Given the description of an element on the screen output the (x, y) to click on. 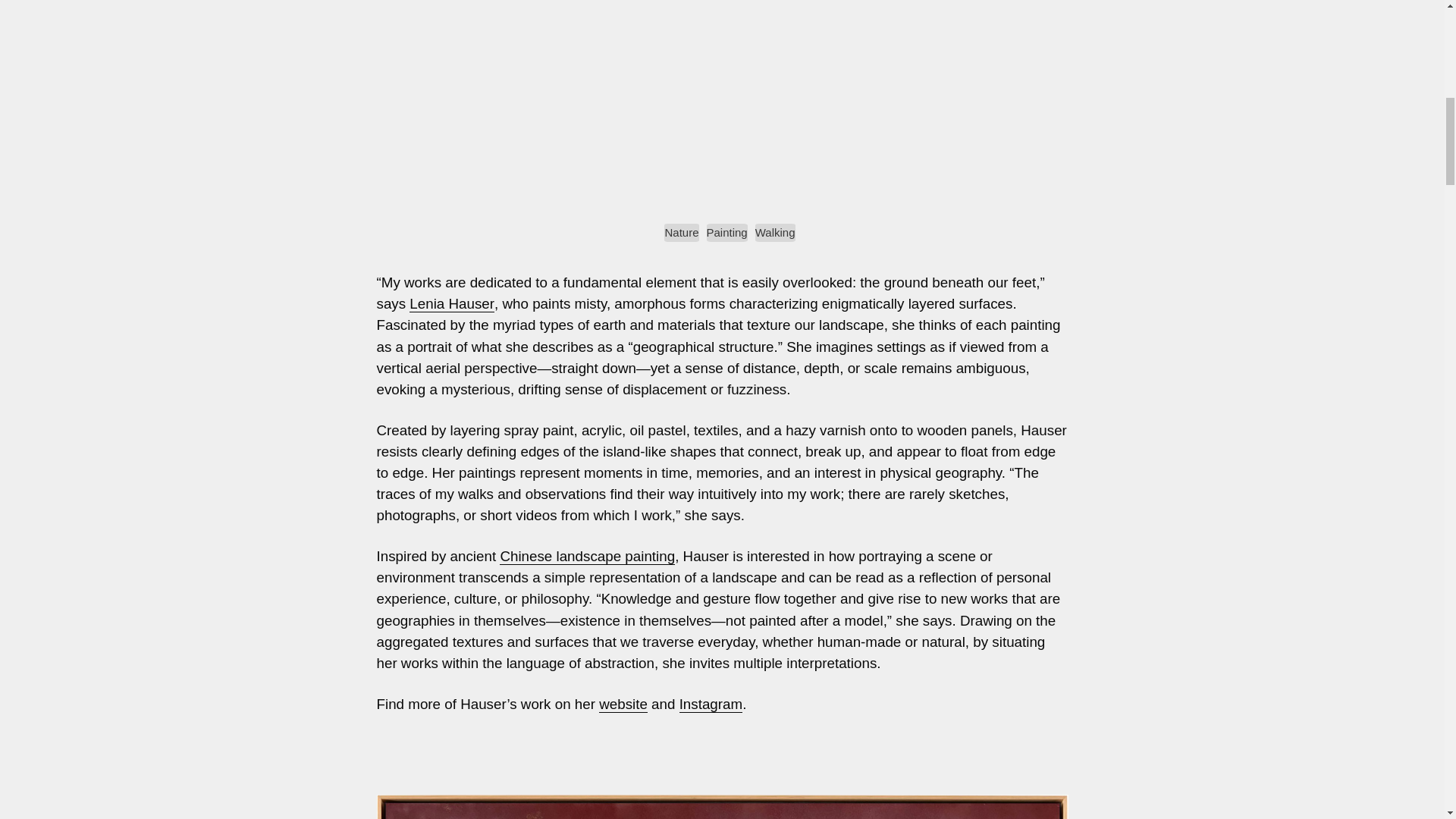
Lenia Hauser (452, 303)
Chinese landscape painting (587, 555)
Walking (774, 232)
Instagram (710, 703)
Painting (727, 232)
website (622, 703)
Nature (680, 232)
